Given the description of an element on the screen output the (x, y) to click on. 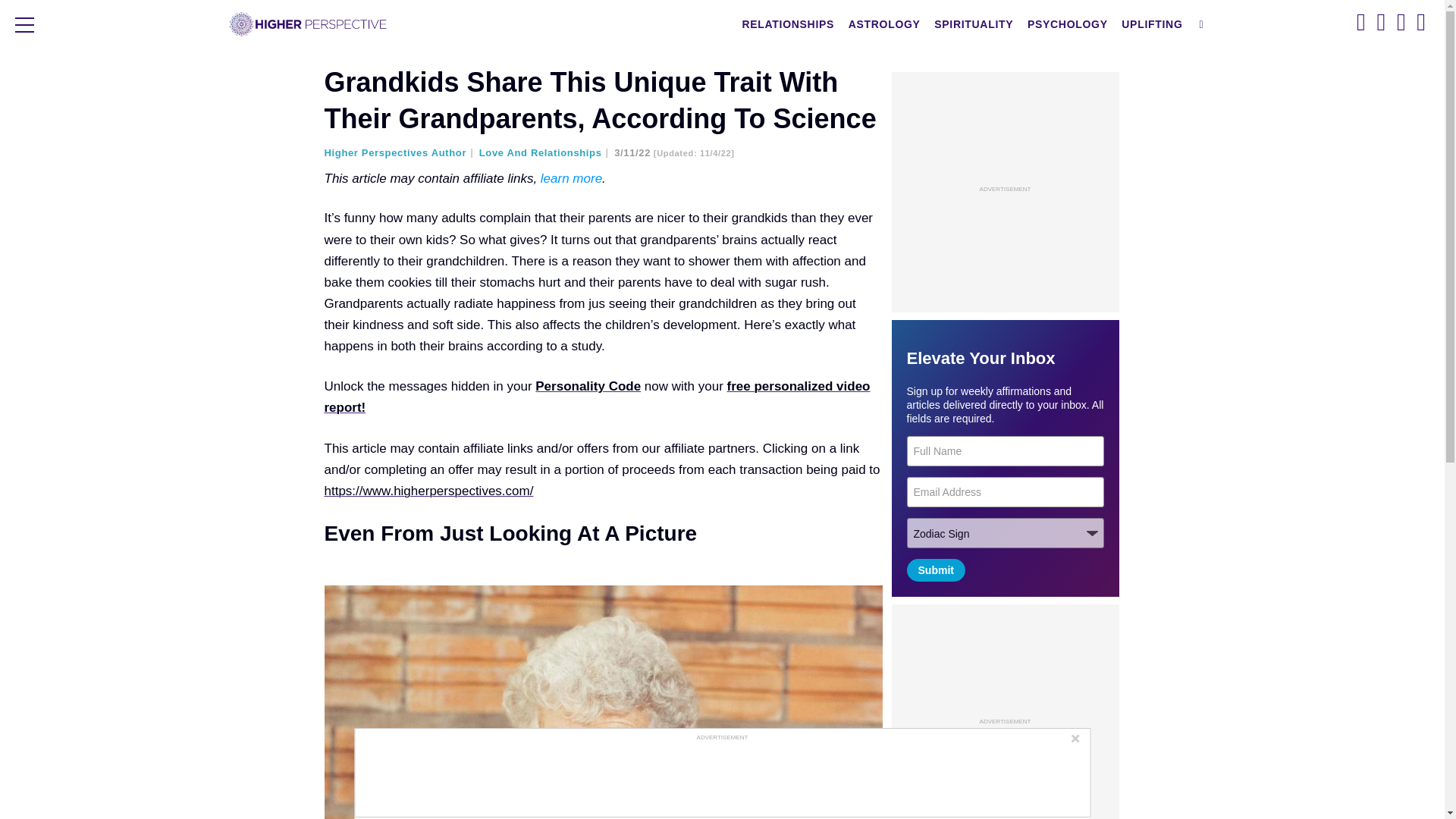
learn more (571, 178)
free personalized video report! (597, 396)
PSYCHOLOGY (1067, 24)
UPLIFTING (1152, 24)
ASTROLOGY (884, 24)
Love And Relationships (545, 152)
Posts by Higher Perspectives Author (400, 152)
RELATIONSHIPS (788, 24)
Personality Code (587, 386)
SPIRITUALITY (972, 24)
